Given the description of an element on the screen output the (x, y) to click on. 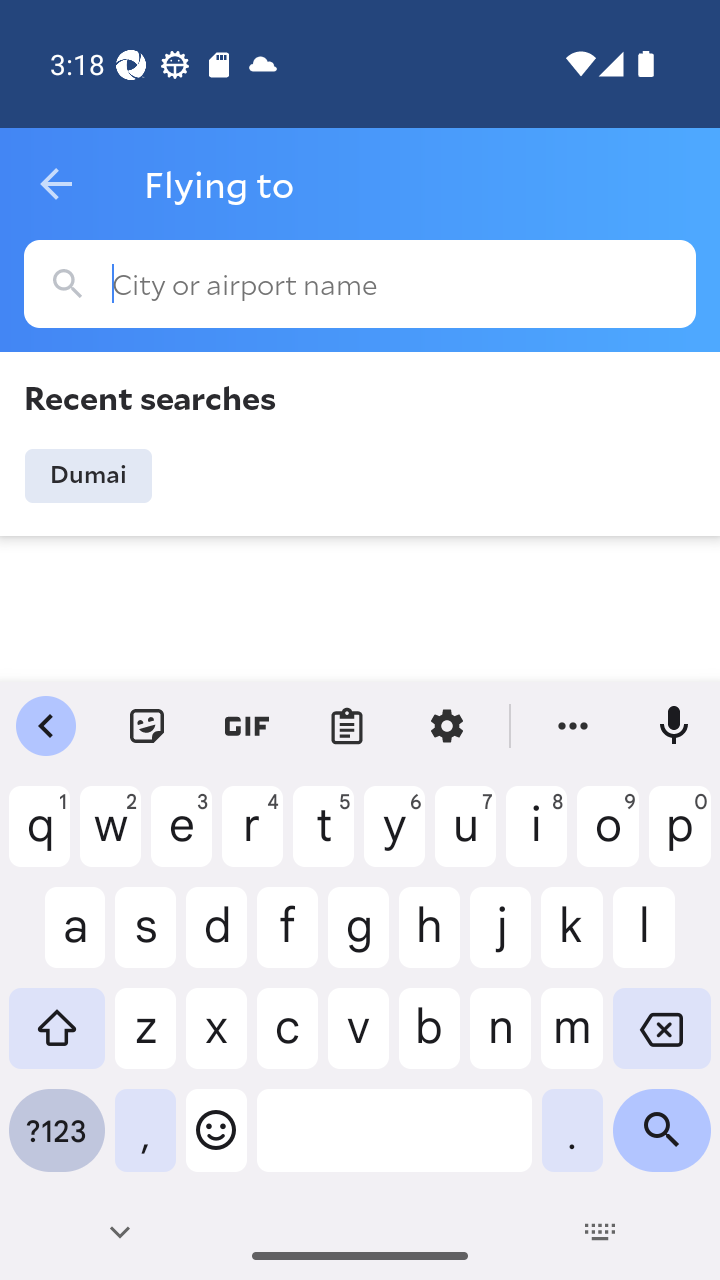
Navigate up (56, 184)
City or airport name (359, 283)
Dumai  Dumai (87, 476)
